Given the description of an element on the screen output the (x, y) to click on. 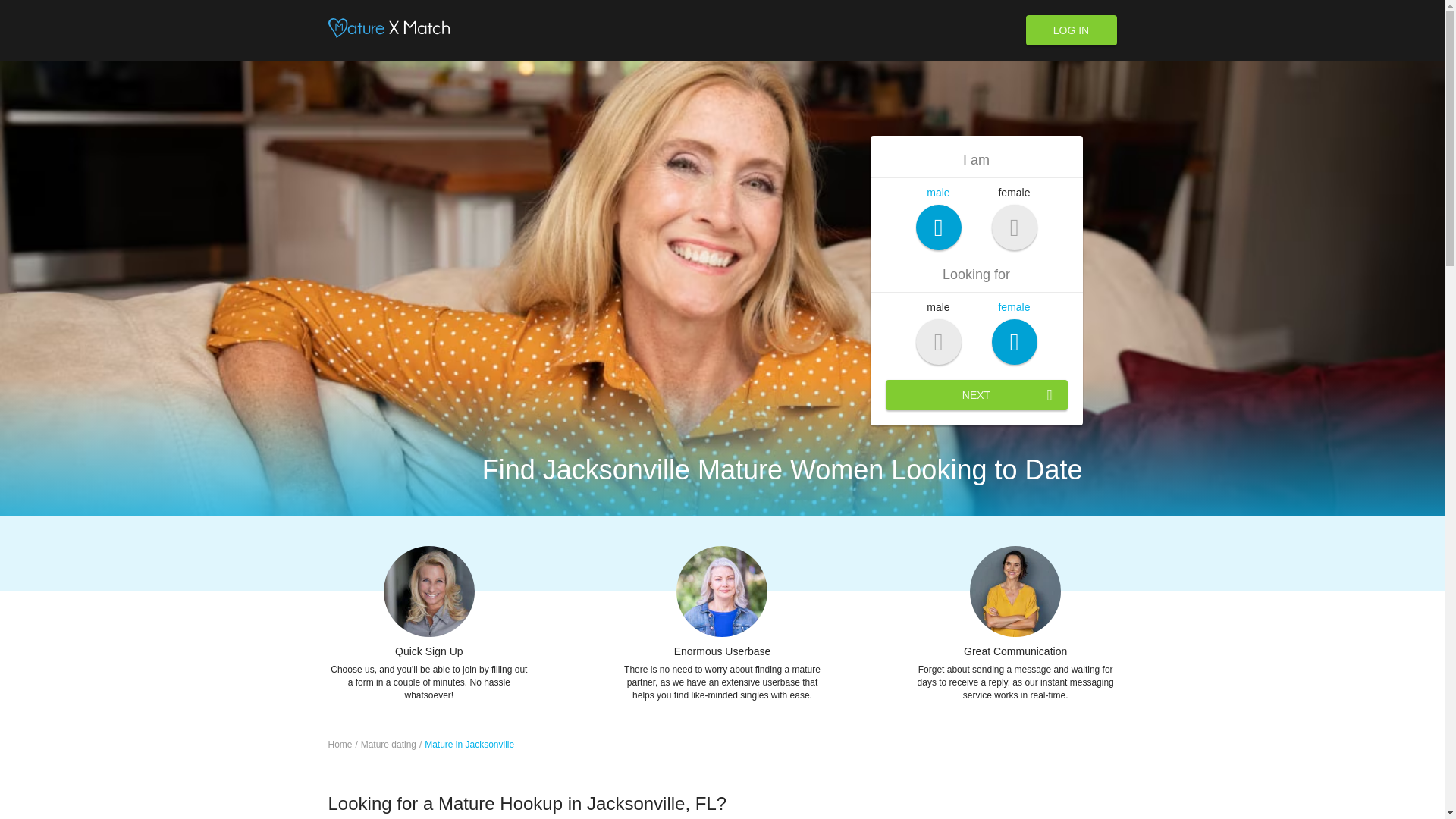
LOG IN (1070, 30)
NEXT (976, 395)
Home (339, 744)
Mature dating (388, 744)
